Given the description of an element on the screen output the (x, y) to click on. 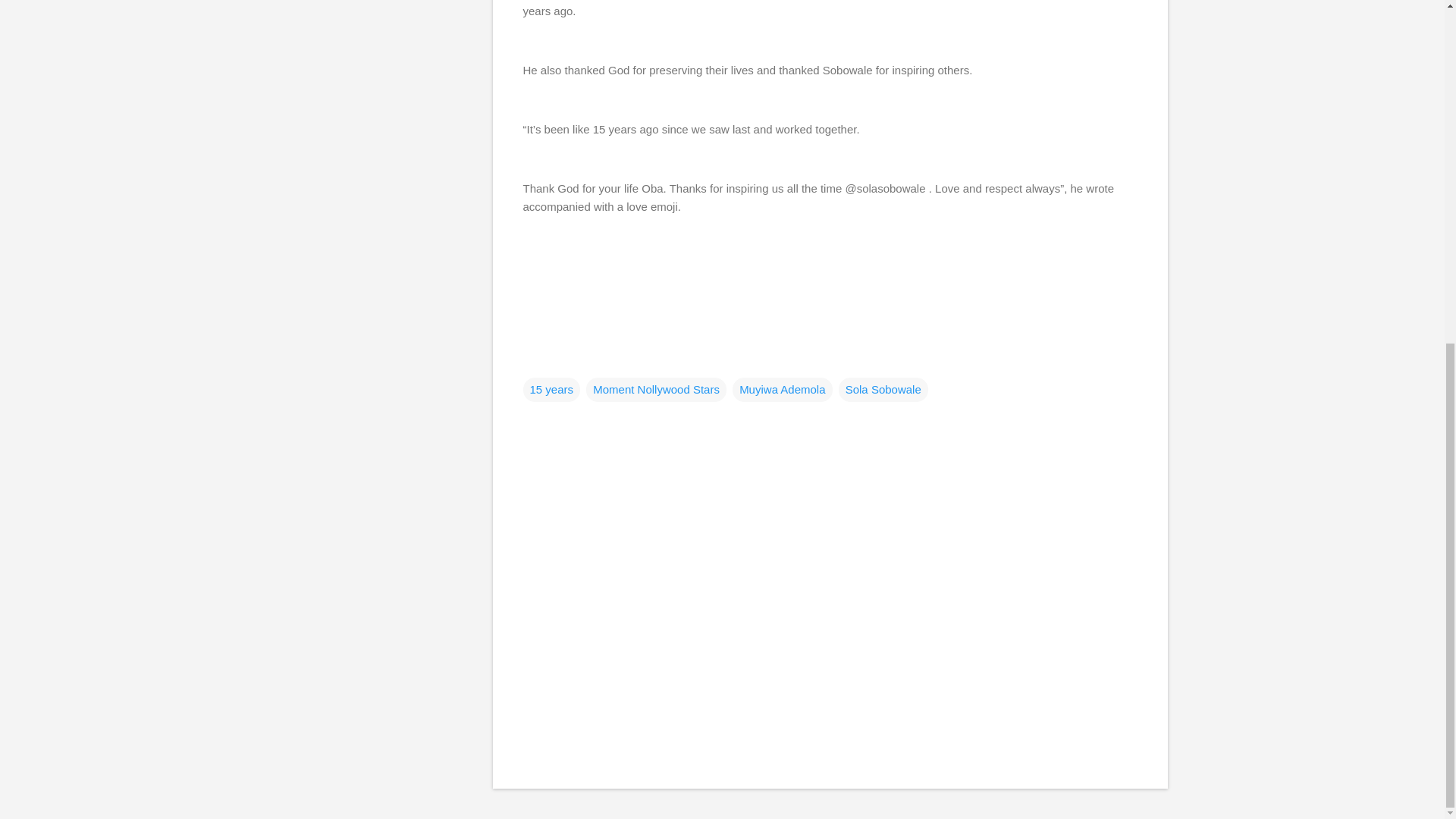
Sola Sobowale (883, 389)
15 years (551, 389)
Muyiwa Ademola (781, 389)
Moment Nollywood Stars (656, 389)
